Given the description of an element on the screen output the (x, y) to click on. 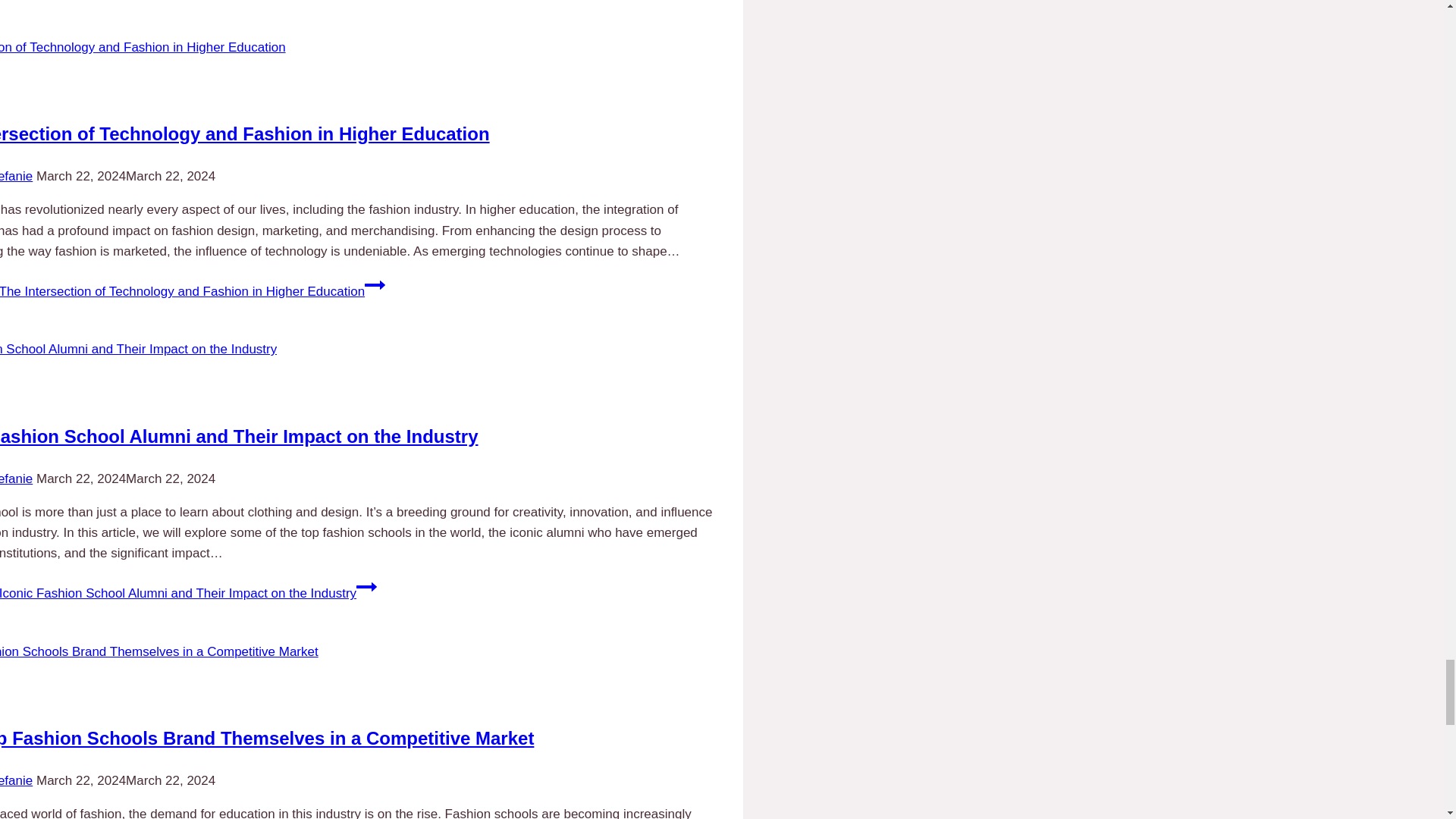
Continue (375, 284)
yasminstefanie (16, 478)
Continue (366, 586)
yasminstefanie (16, 780)
yasminstefanie (16, 175)
